Given the description of an element on the screen output the (x, y) to click on. 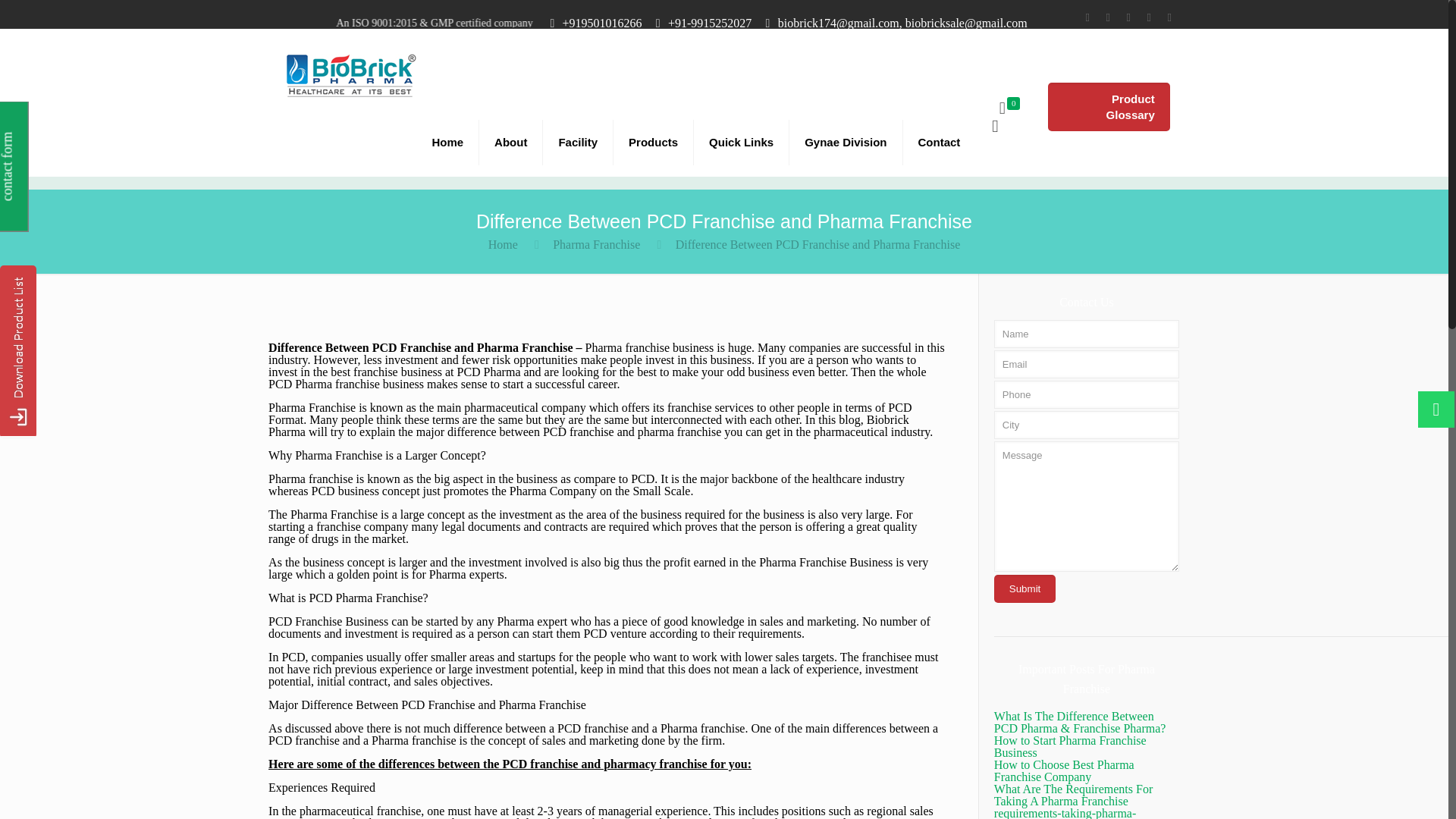
Pinterest (1149, 17)
About (511, 142)
Home (447, 142)
Facebook (1088, 17)
Facility (577, 142)
LinkedIn (1129, 17)
Products (653, 142)
Submit (1024, 588)
Instagram (1169, 17)
Contact (938, 142)
Gynae Division (845, 142)
Twitter (1108, 17)
Biobrick Pharma (350, 74)
Quick Links (741, 142)
